Given the description of an element on the screen output the (x, y) to click on. 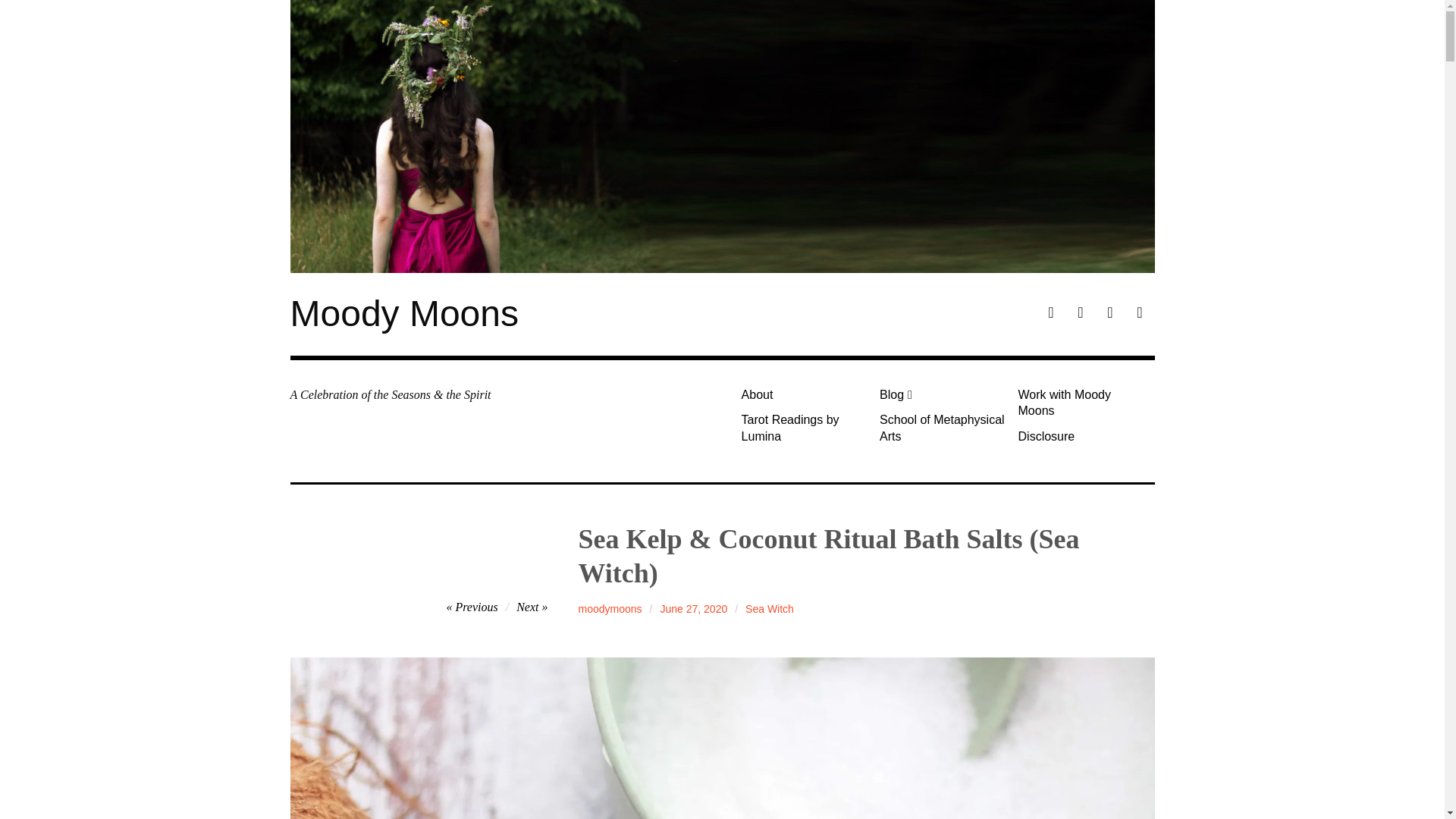
Previous (471, 606)
Next (531, 606)
School of Metaphysical Arts (942, 427)
Instagram (1109, 313)
Tarot Readings by Lumina (804, 427)
Twitter (1138, 313)
Facebook (1051, 313)
Blog (942, 394)
About (804, 394)
June 27, 2020 (692, 608)
Sea Witch (769, 608)
moodymoons (610, 608)
Disclosure (1080, 436)
Work with Moody Moons (1080, 403)
